Given the description of an element on the screen output the (x, y) to click on. 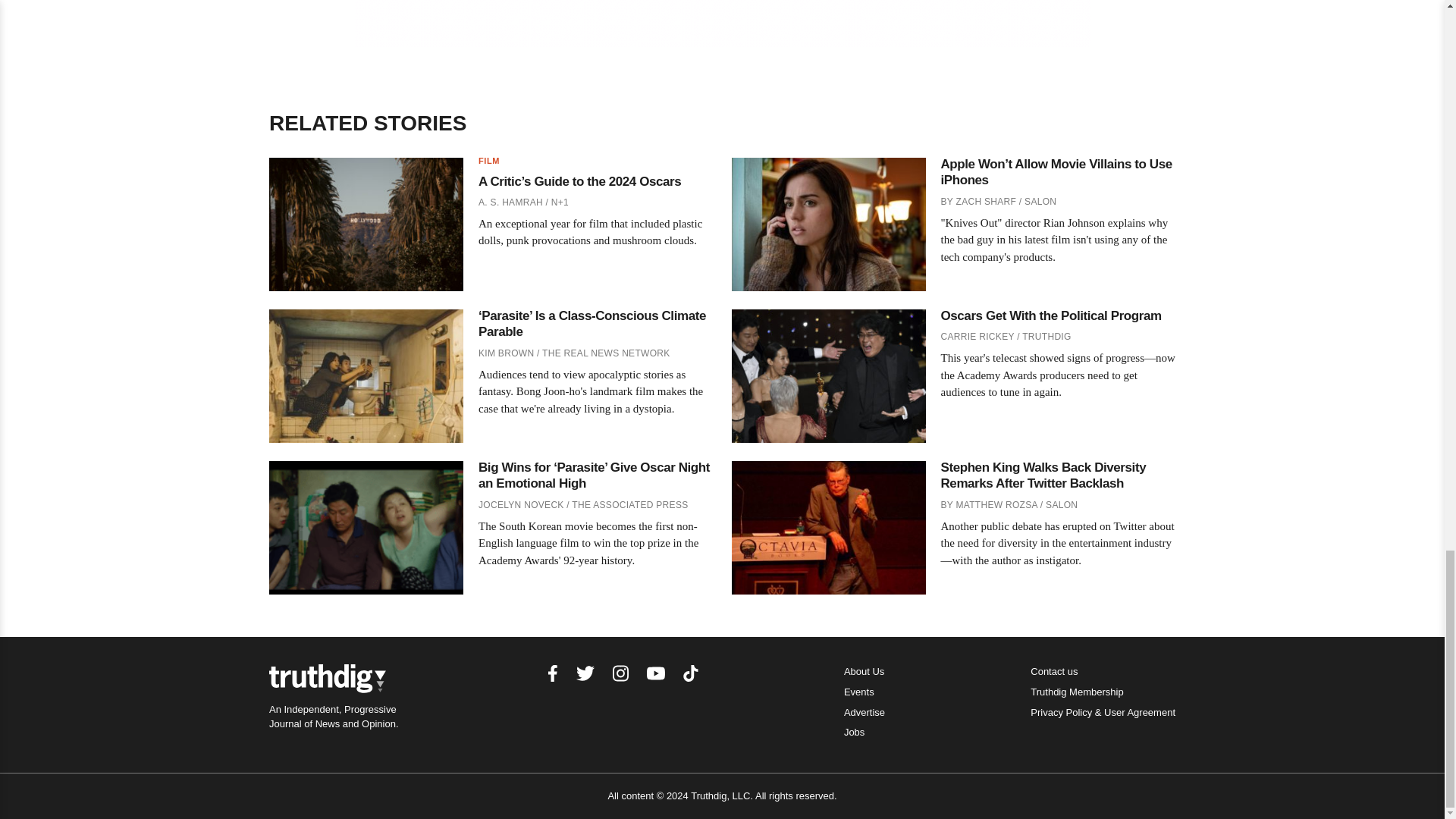
3rd party ad content (722, 23)
